Given the description of an element on the screen output the (x, y) to click on. 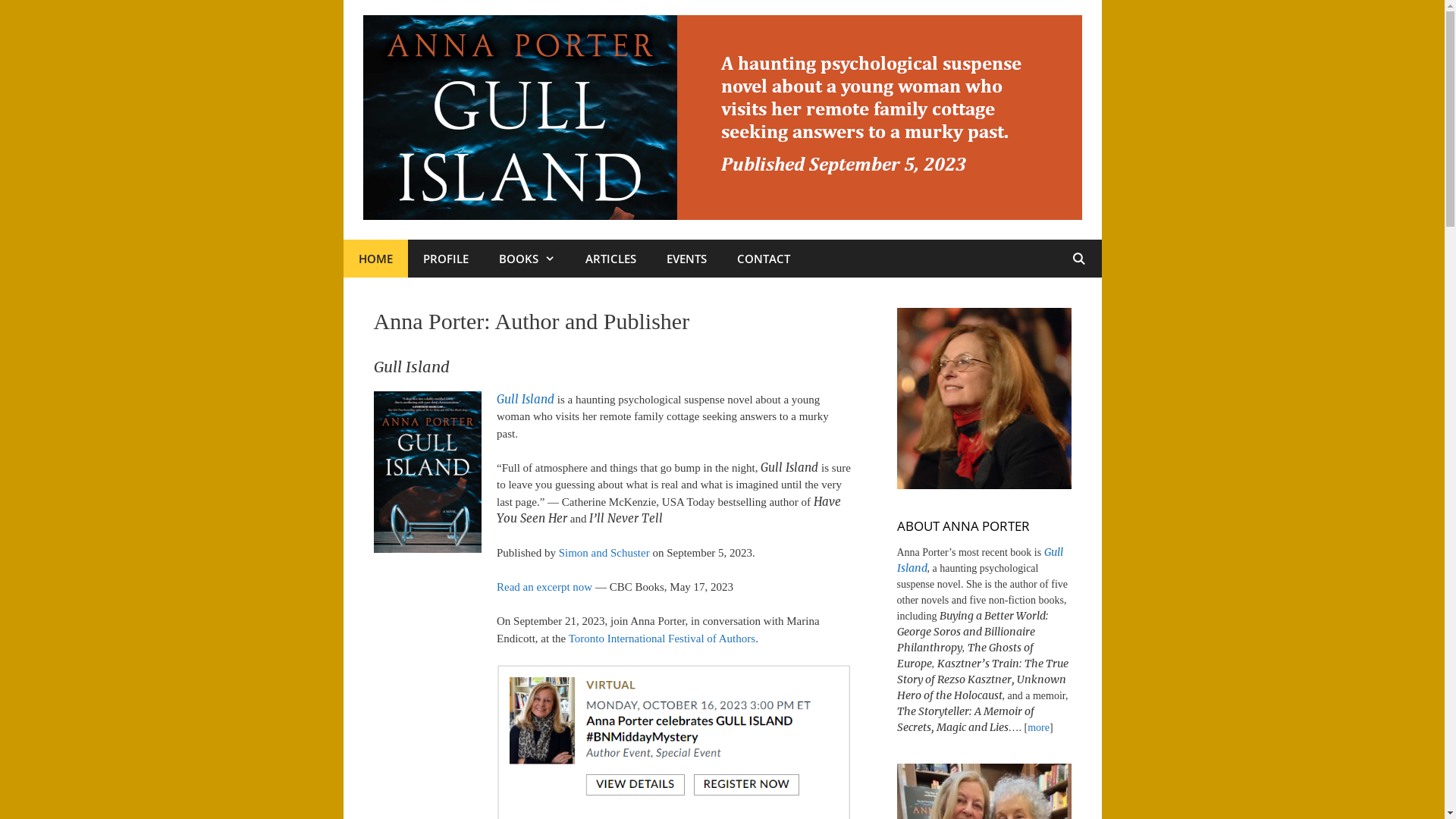
Gull Island Element type: text (525, 398)
Gull Island Element type: text (979, 560)
ARTICLES Element type: text (610, 258)
Toronto International Festival of Authors Element type: text (661, 638)
PROFILE Element type: text (445, 258)
Simon and Schuster Element type: text (603, 552)
CONTACT Element type: text (763, 258)
HOME Element type: text (374, 258)
more Element type: text (1038, 727)
EVENTS Element type: text (685, 258)
BOOKS Element type: text (526, 258)
Read an excerpt now Element type: text (544, 586)
